Given the description of an element on the screen output the (x, y) to click on. 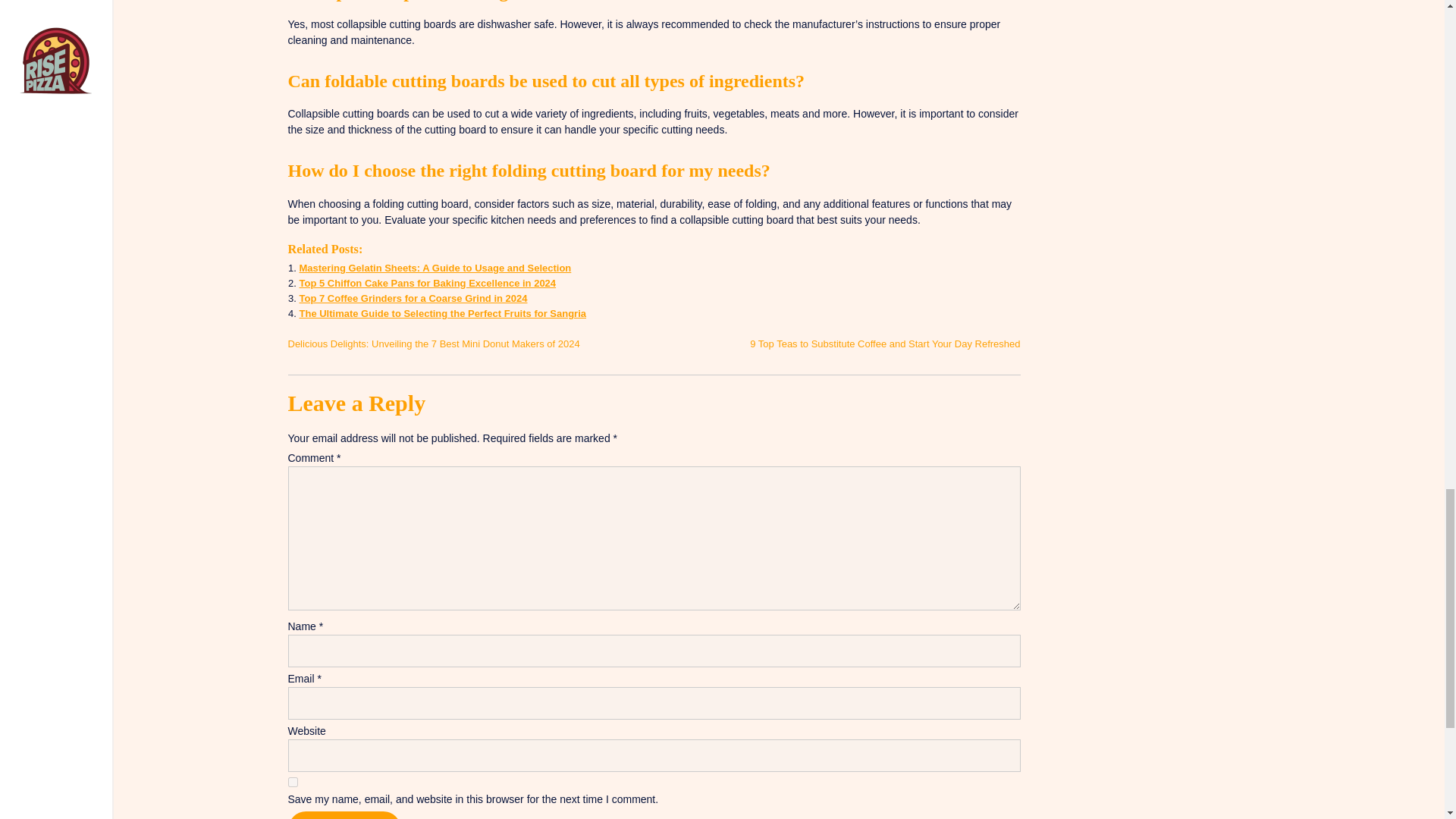
Post Comment (344, 815)
Top 7 Coffee Grinders for a Coarse Grind in 2024 (412, 297)
9 Top Teas to Substitute Coffee and Start Your Day Refreshed (884, 343)
Mastering Gelatin Sheets: A Guide to Usage and Selection (434, 267)
Top 5 Chiffon Cake Pans for Baking Excellence in 2024 (427, 283)
Mastering Gelatin Sheets: A Guide to Usage and Selection (434, 267)
yes (293, 782)
Top 7 Coffee Grinders for a Coarse Grind in 2024 (412, 297)
Post Comment (344, 815)
